Given the description of an element on the screen output the (x, y) to click on. 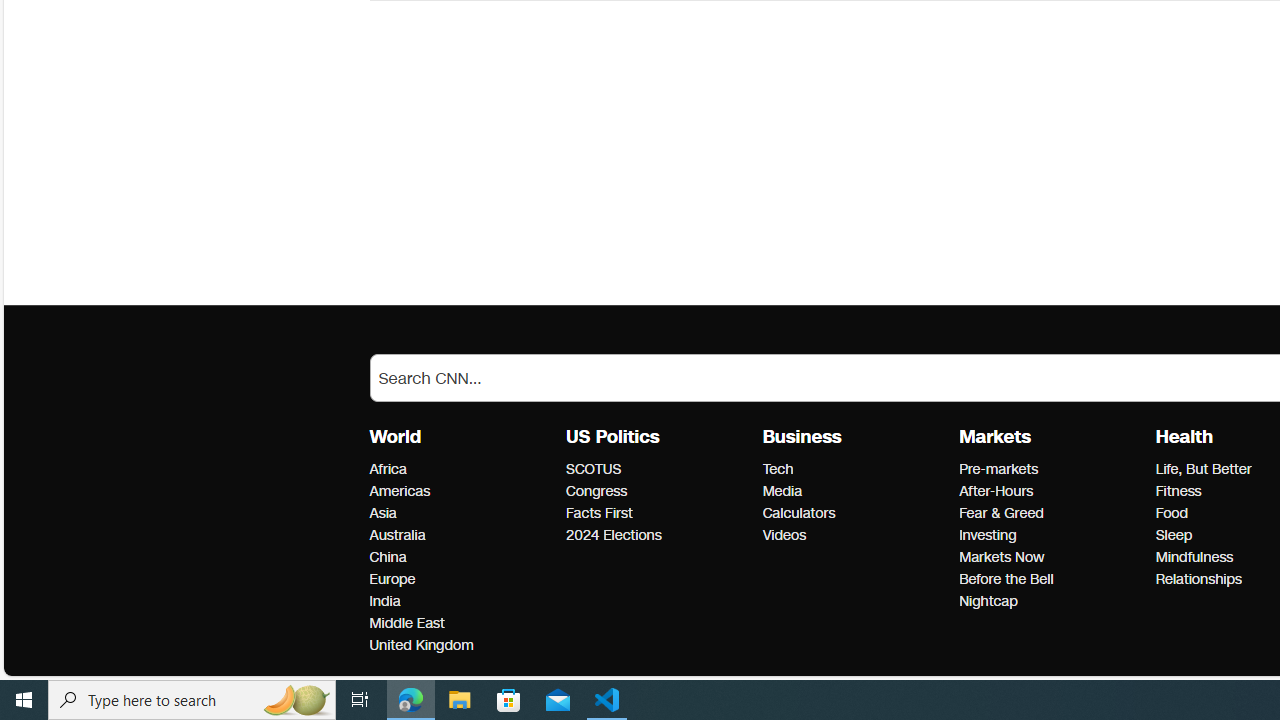
After-Hours (1051, 492)
Europe (461, 579)
Facts First (658, 513)
World Asia (382, 512)
US Politics Congress (596, 491)
US Politics SCOTUS (593, 469)
World India (384, 601)
Markets After-Hours (996, 491)
BusinessTechMediaCalculatorsVideos (860, 485)
Nightcap (1051, 602)
China (461, 557)
India (461, 602)
Asia (461, 513)
Australia (461, 536)
SCOTUS (658, 469)
